Given the description of an element on the screen output the (x, y) to click on. 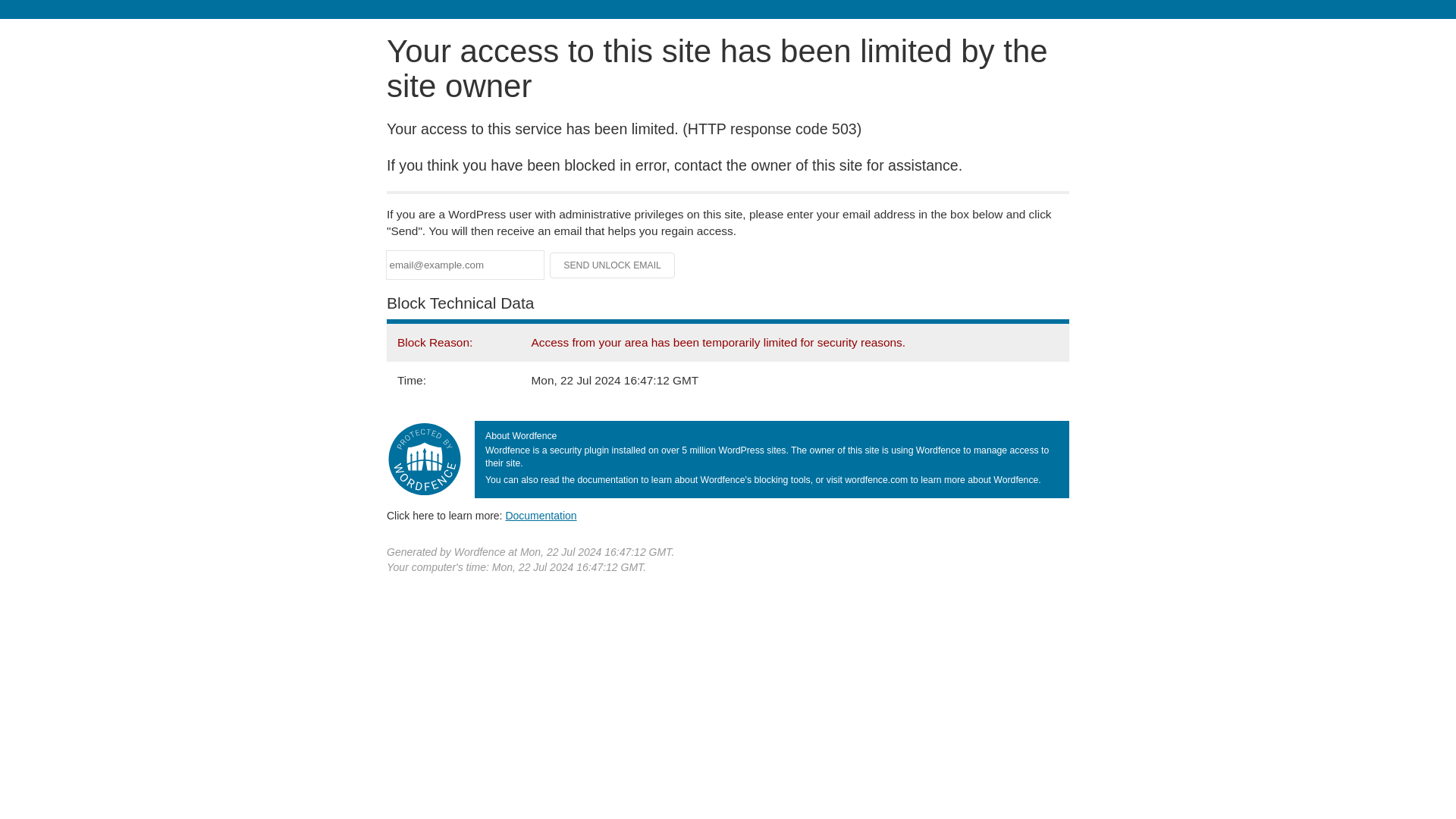
Send Unlock Email (612, 265)
Send Unlock Email (612, 265)
Documentation (540, 515)
